Given the description of an element on the screen output the (x, y) to click on. 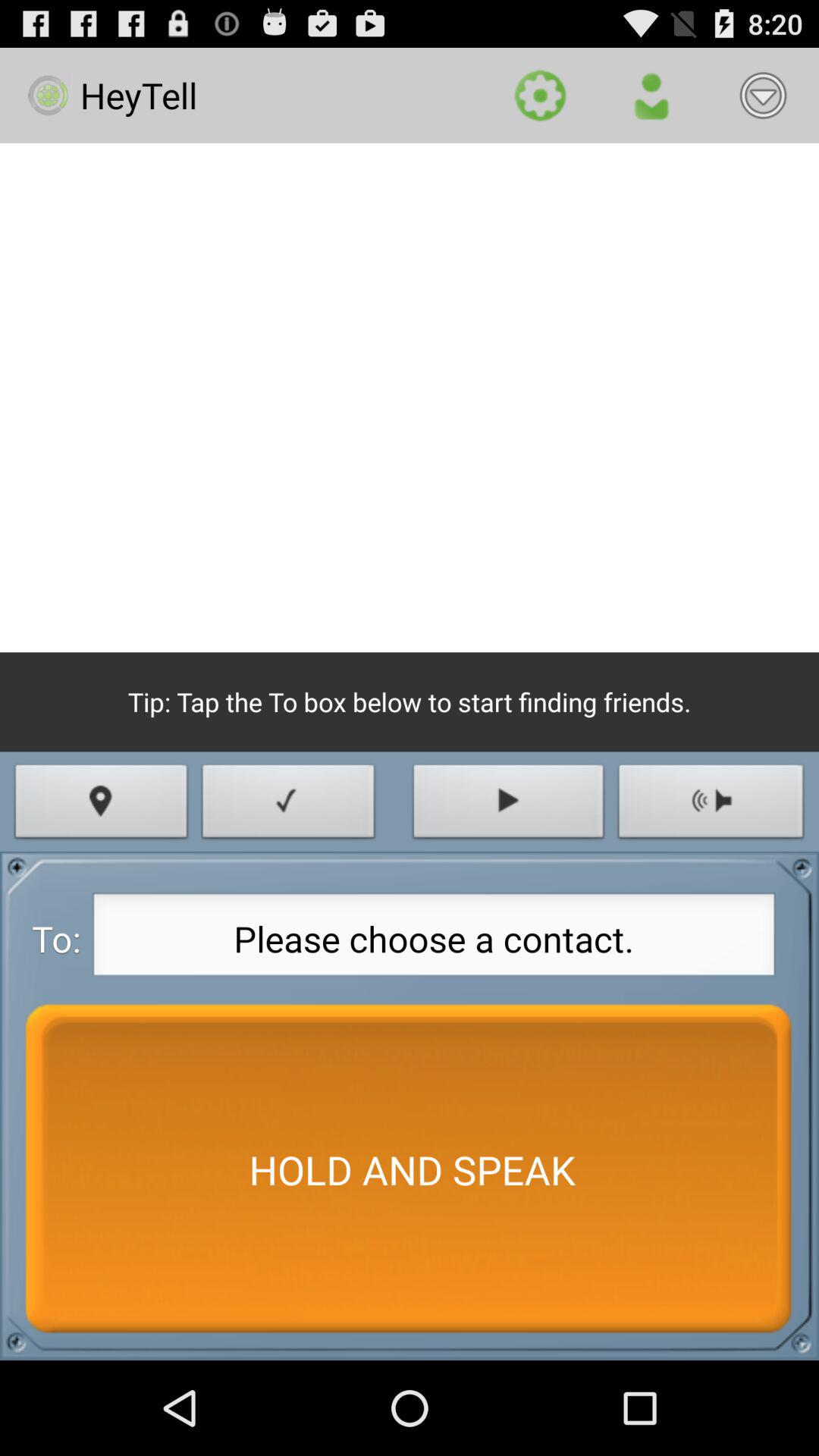
swipe to the please choose a app (433, 938)
